Given the description of an element on the screen output the (x, y) to click on. 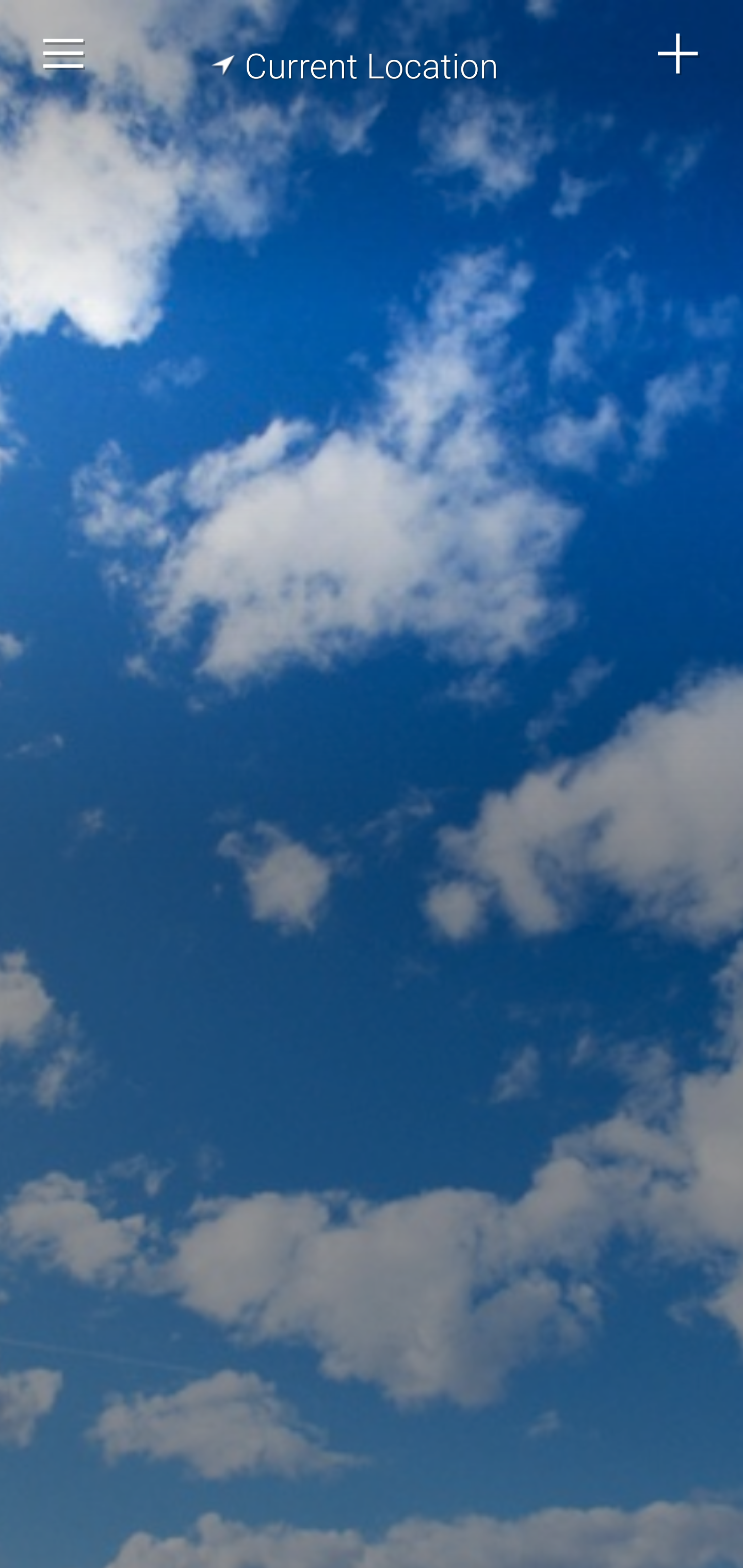
Sidebar (64, 54)
Add City (678, 53)
